Given the description of an element on the screen output the (x, y) to click on. 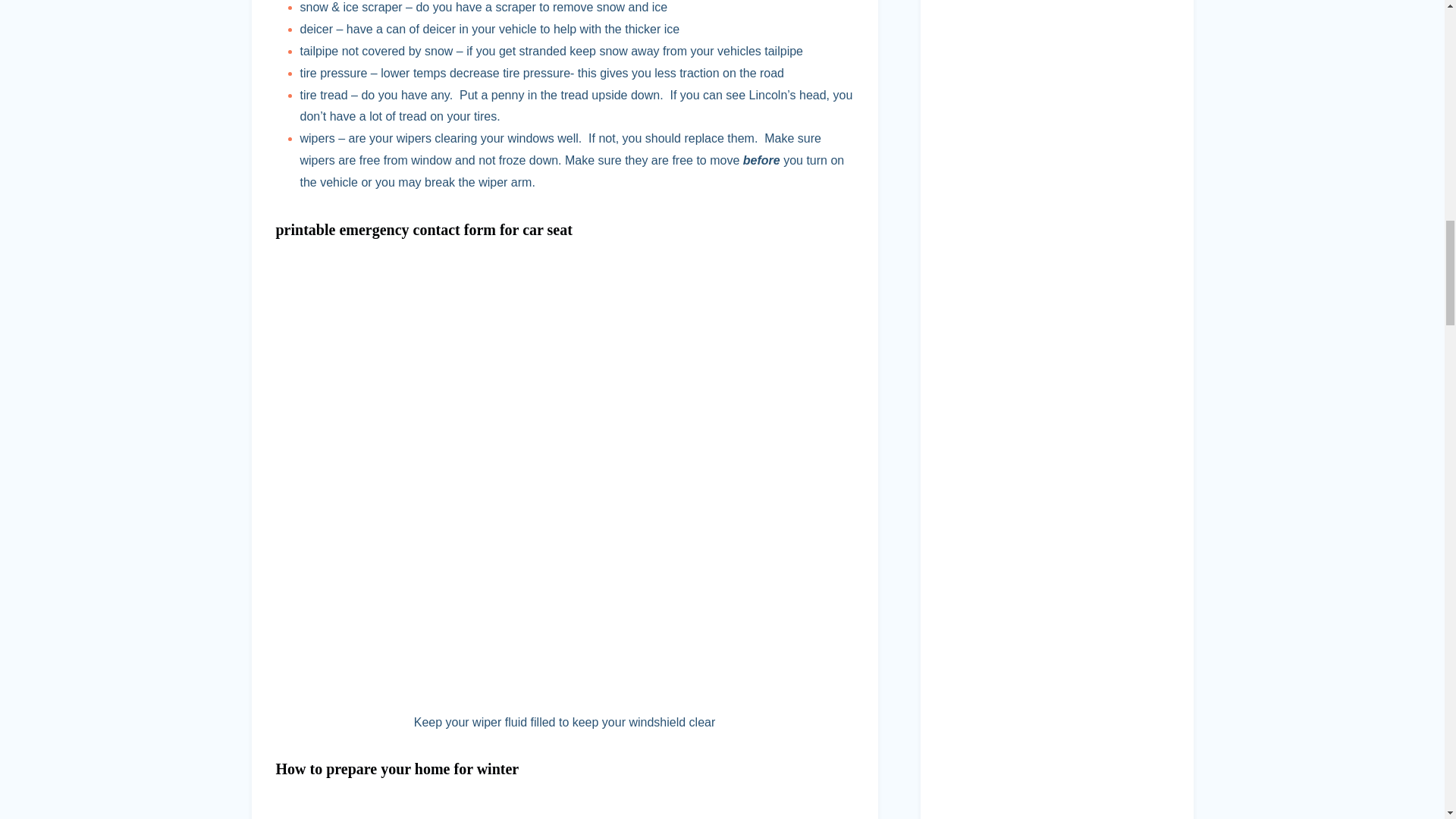
printable emergency contact form for car seat  (426, 229)
How to prepare your home for winter (397, 768)
